Given the description of an element on the screen output the (x, y) to click on. 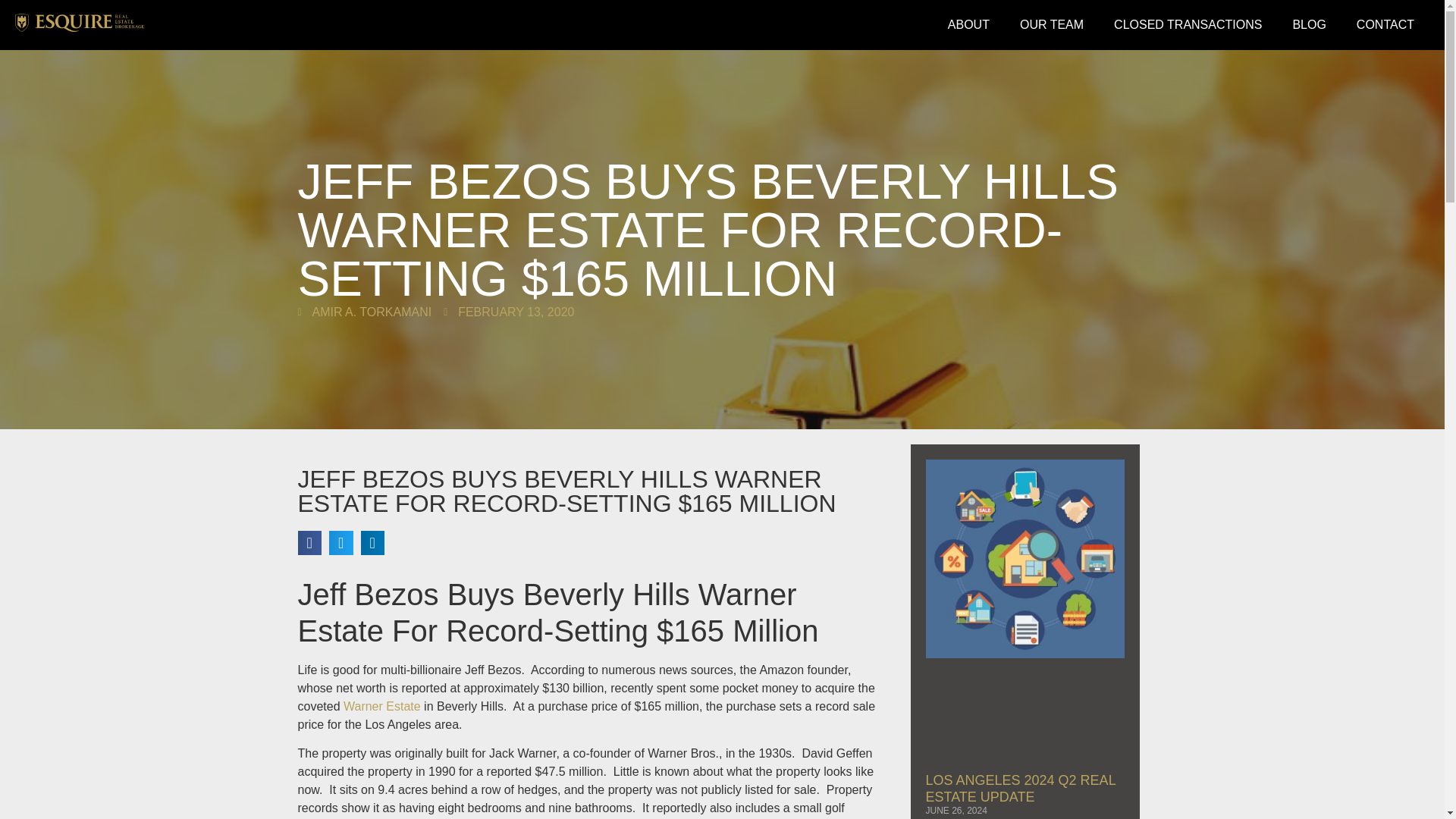
FEBRUARY 13, 2020 (508, 312)
AMIR A. TORKAMANI (363, 312)
CONTACT (1384, 24)
CLOSED TRANSACTIONS (1187, 24)
BLOG (1308, 24)
ABOUT (968, 24)
LOS ANGELES 2024 Q2 REAL ESTATE UPDATE (1019, 788)
Warner Estate (381, 705)
OUR TEAM (1051, 24)
